Given the description of an element on the screen output the (x, y) to click on. 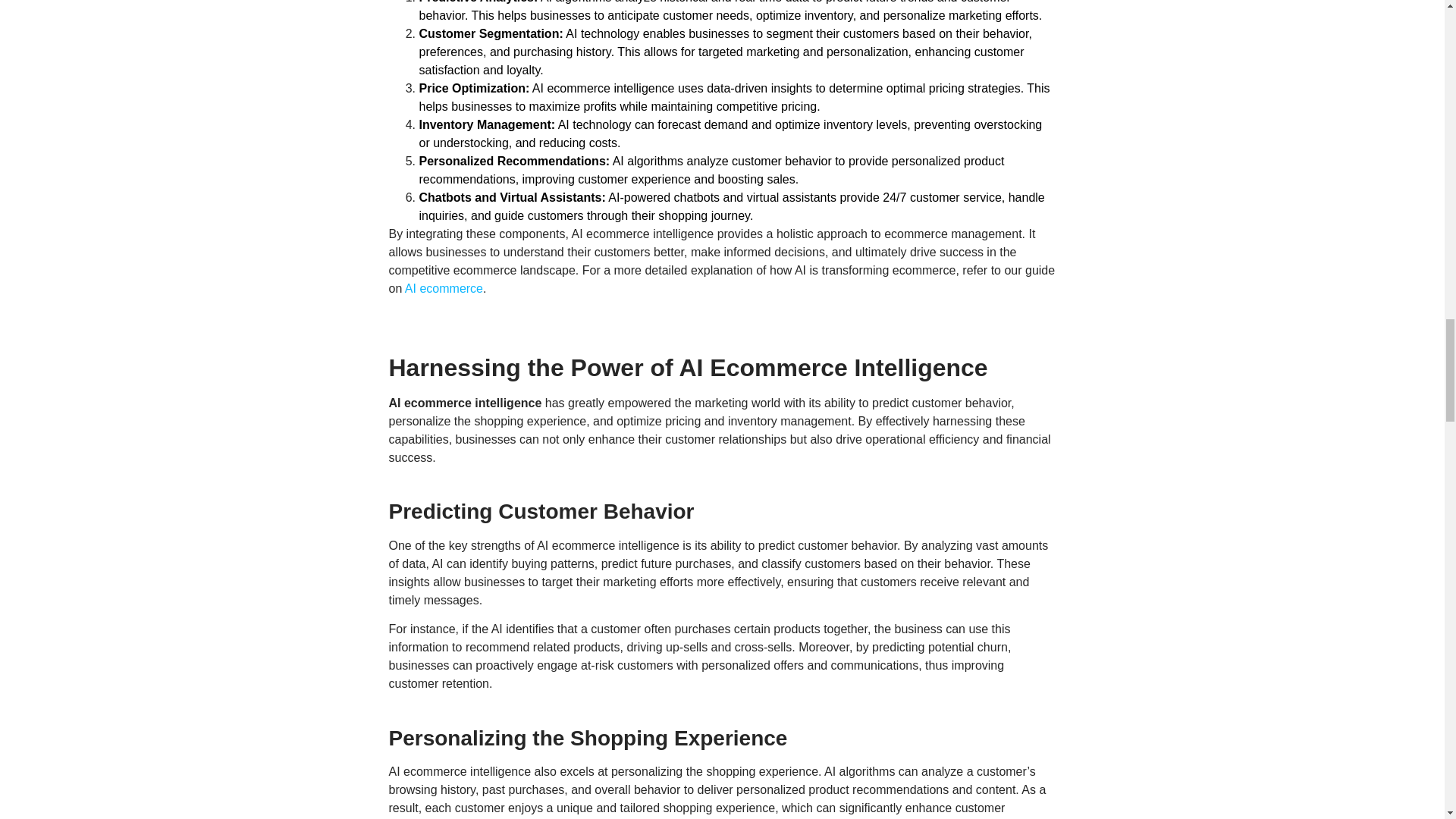
AI ecommerce (443, 287)
